Given the description of an element on the screen output the (x, y) to click on. 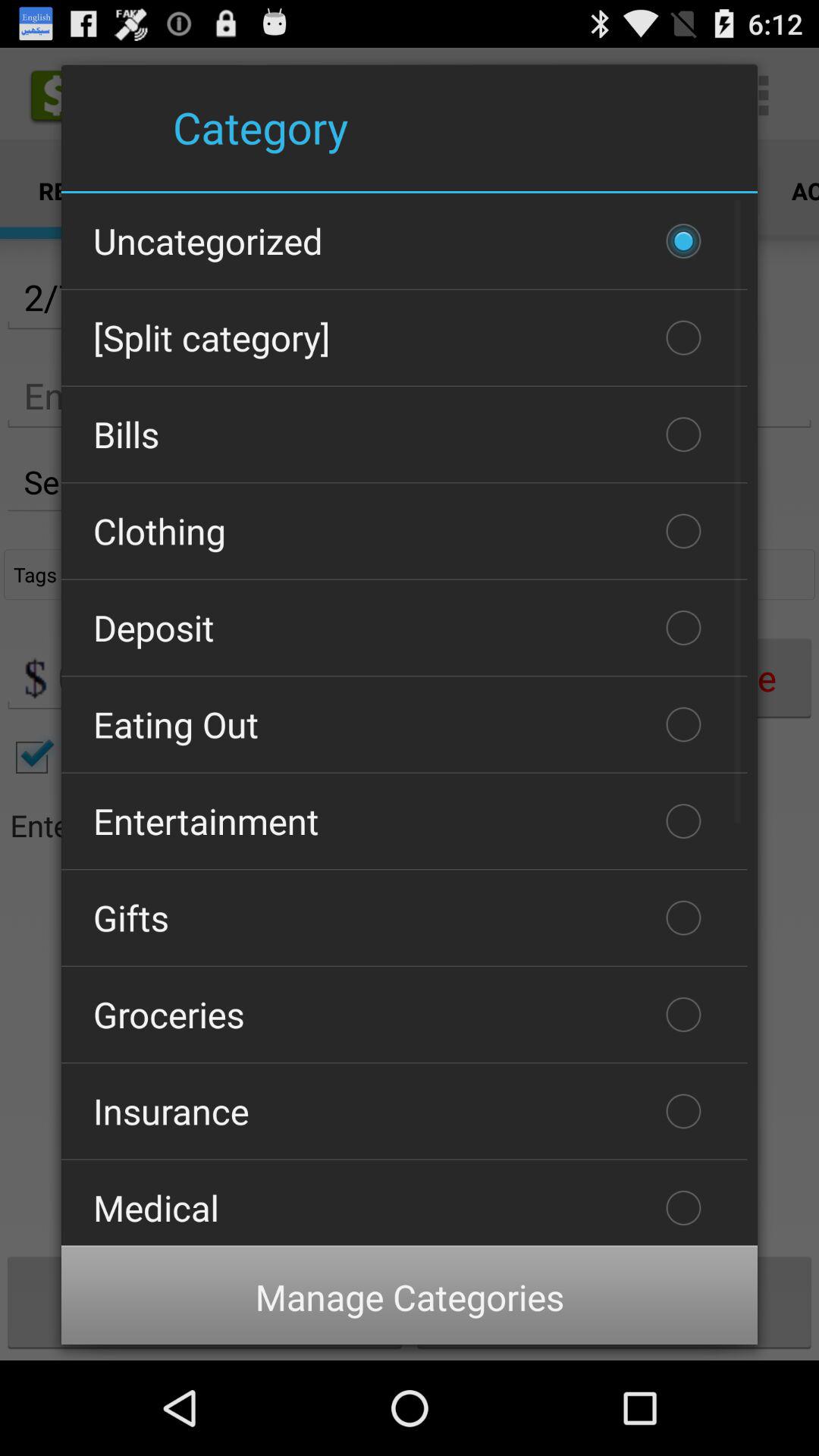
open the icon below the [split category] icon (404, 434)
